Given the description of an element on the screen output the (x, y) to click on. 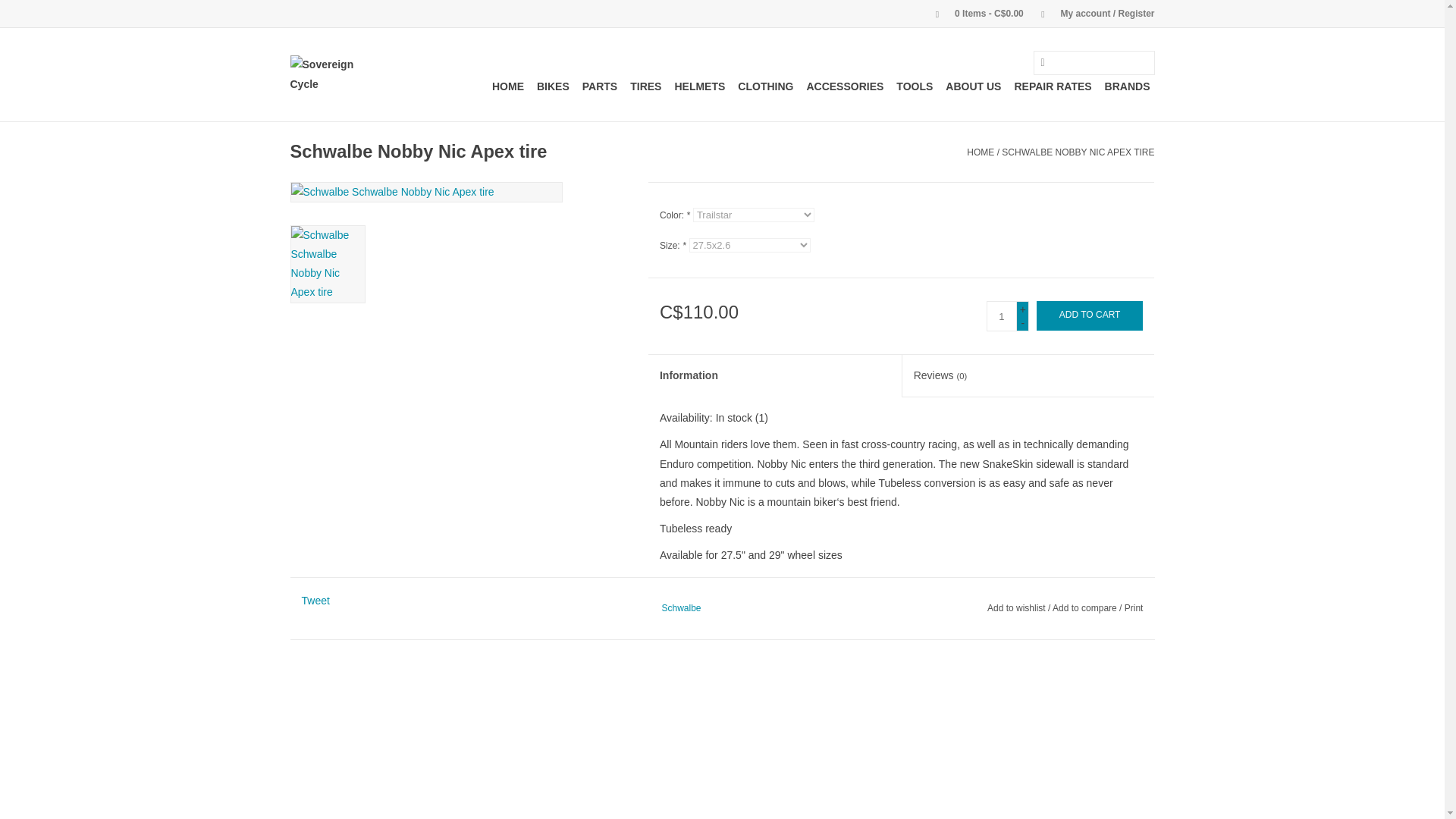
Sovereign Cycle (335, 74)
BIKES (552, 86)
PARTS (599, 86)
My account (1090, 13)
1 (1001, 316)
Cart (973, 13)
HOME (507, 86)
Bikes (552, 86)
